Given the description of an element on the screen output the (x, y) to click on. 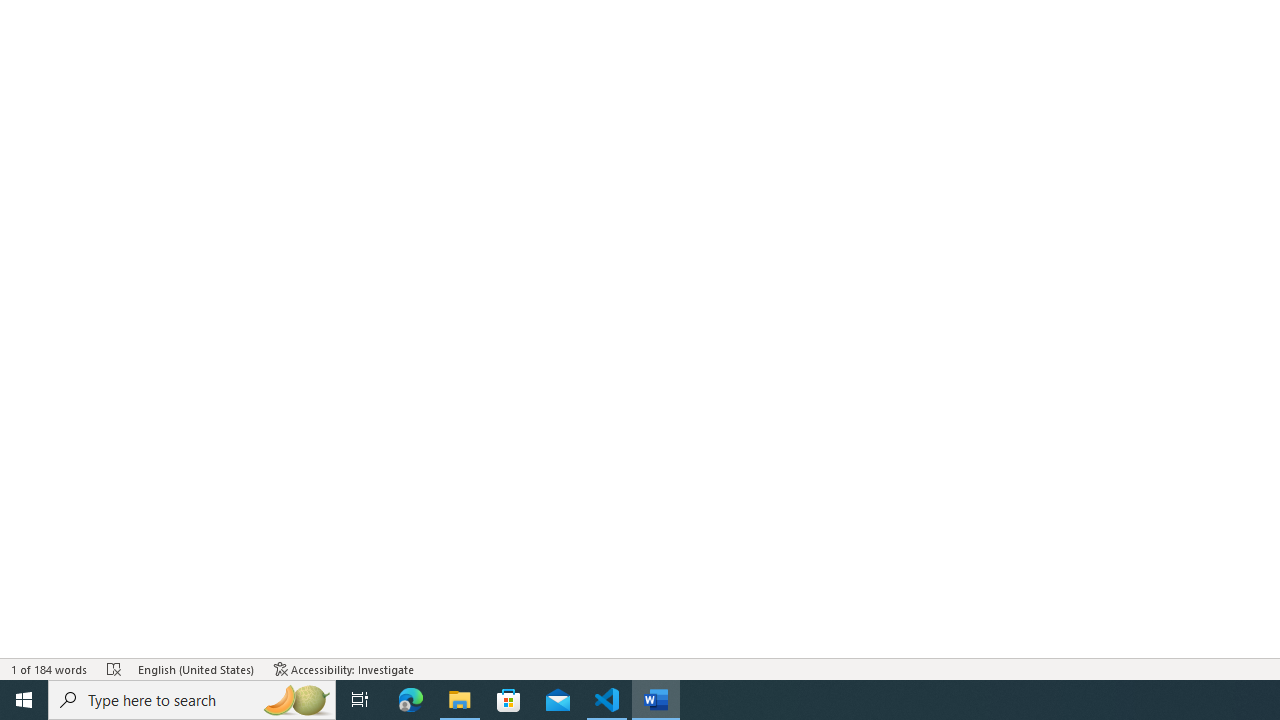
Word Count 1 of 184 words (49, 668)
Language English (United States) (196, 668)
Accessibility Checker Accessibility: Investigate (344, 668)
Spelling and Grammar Check Errors (114, 668)
